Given the description of an element on the screen output the (x, y) to click on. 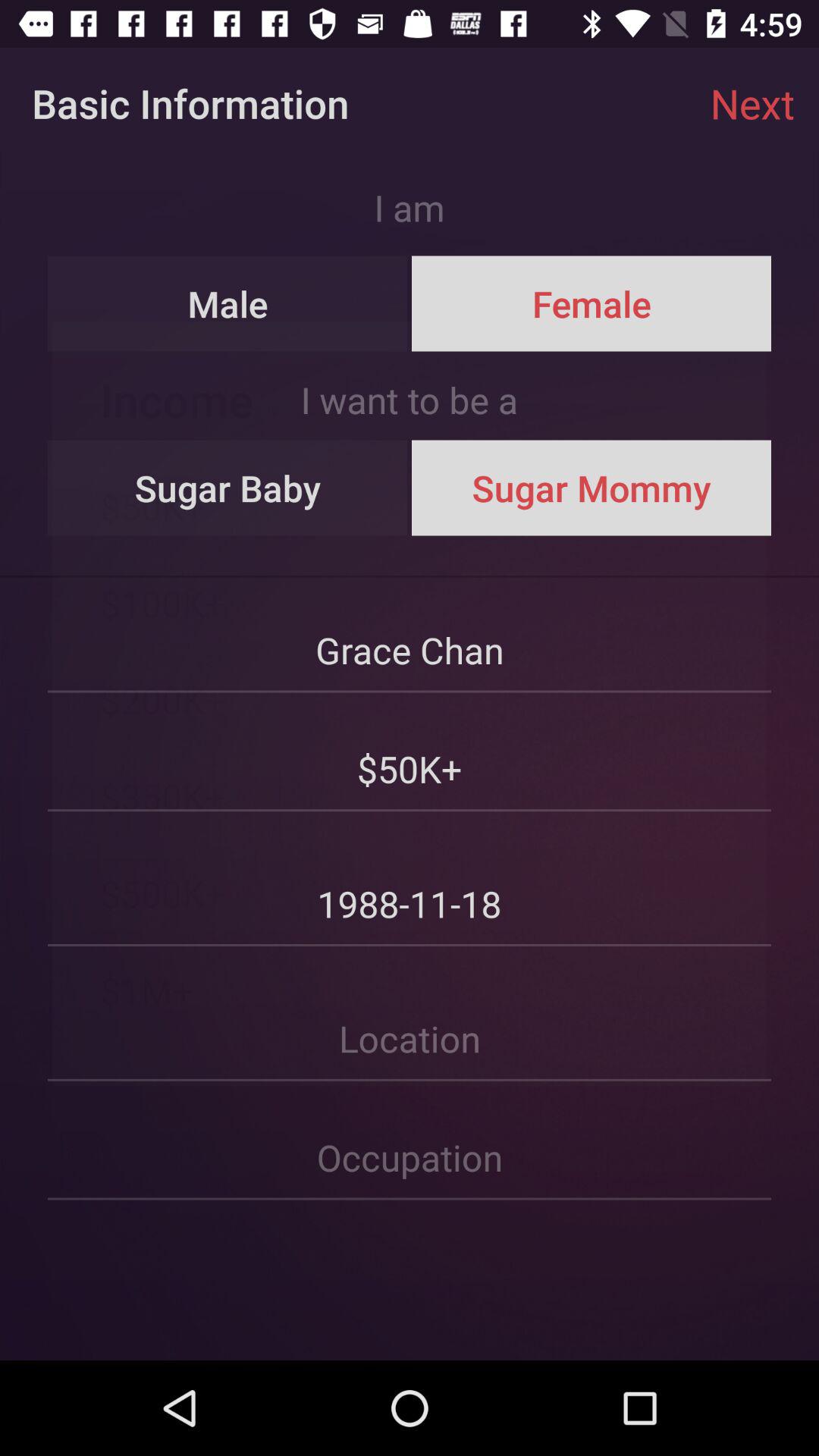
turn off the item above the i want to icon (591, 303)
